Given the description of an element on the screen output the (x, y) to click on. 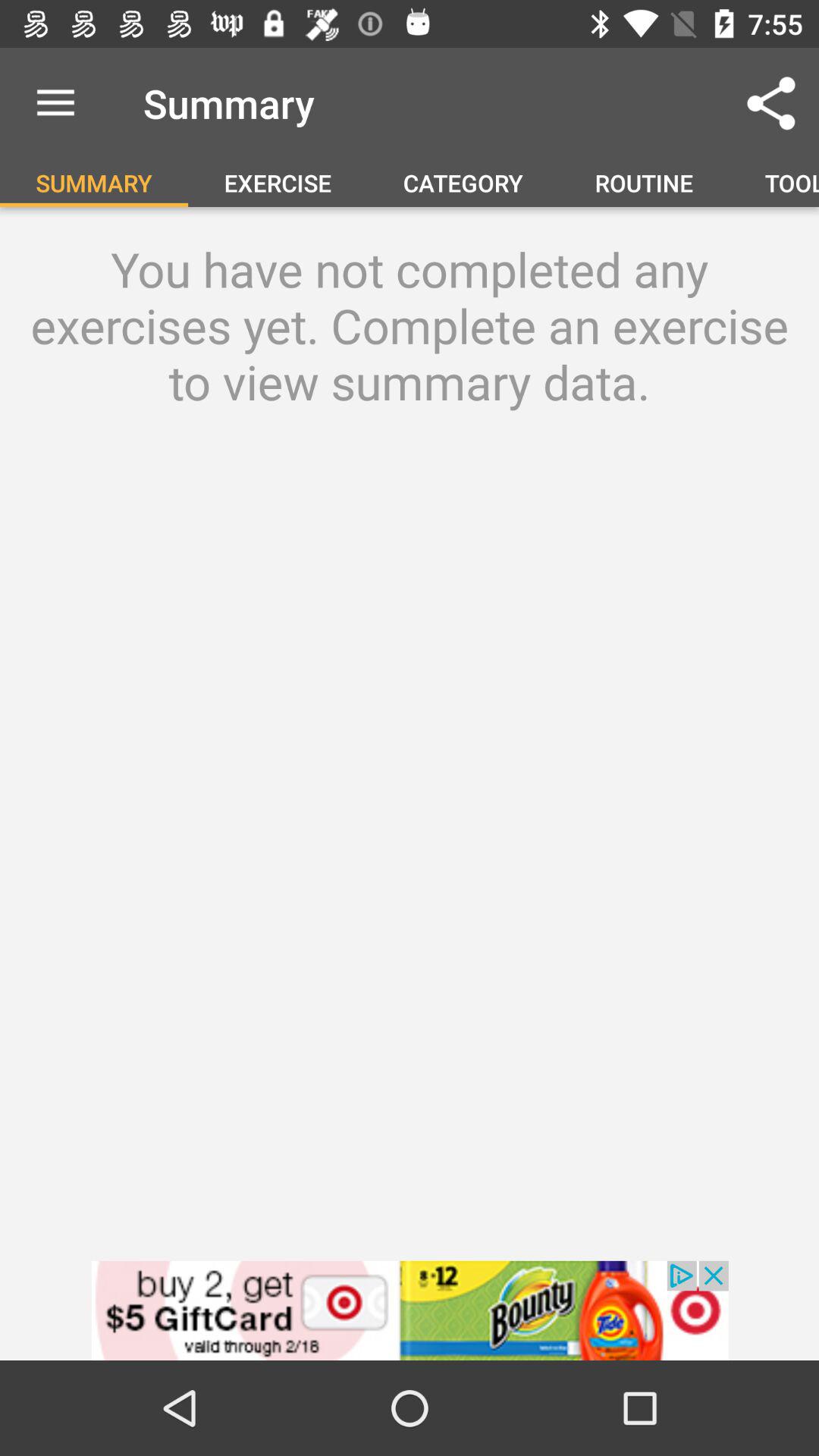
open advertisement (409, 1310)
